Given the description of an element on the screen output the (x, y) to click on. 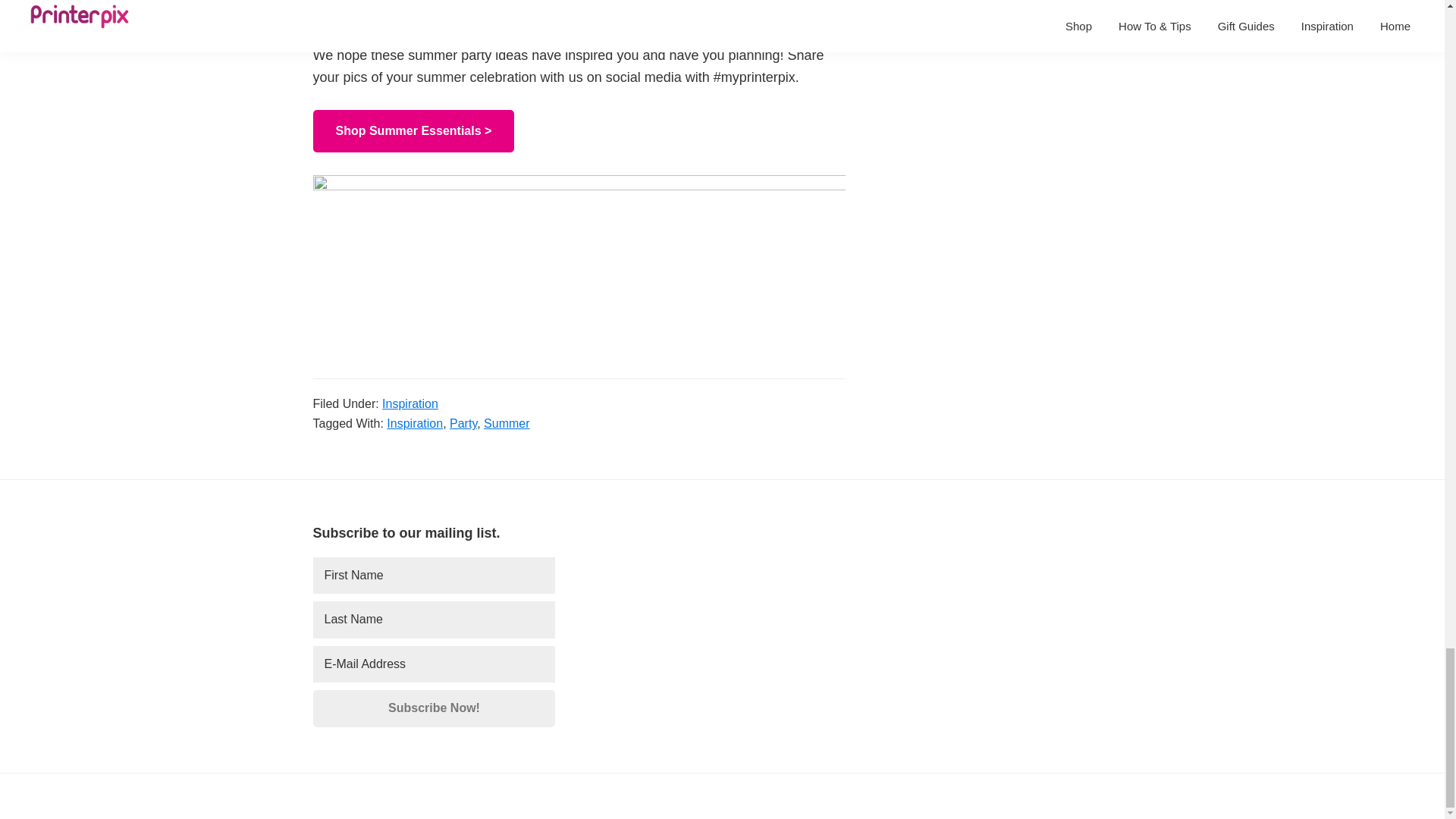
Inspiration (409, 403)
Inspiration (414, 422)
Party (463, 422)
Subscribe Now! (433, 708)
Summer (506, 422)
